Given the description of an element on the screen output the (x, y) to click on. 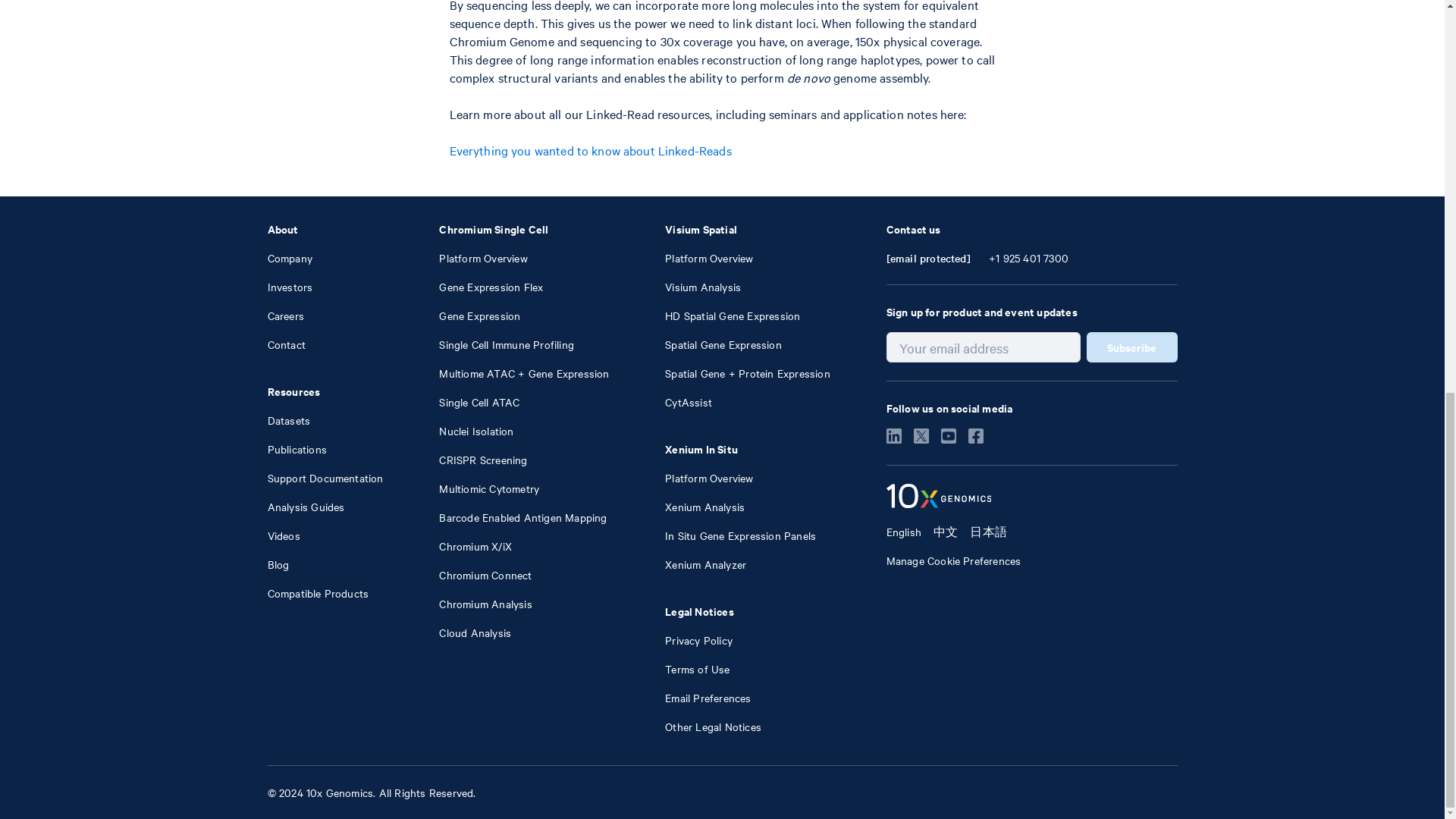
Twitter (926, 438)
Gene Expression Flex (491, 286)
Barcode Enabled Antigen Mapping (523, 516)
Blog (277, 563)
Multiomic Cytometry (488, 488)
Cloud Analysis (475, 631)
Chromium Analysis (485, 603)
Visium Analysis (703, 286)
Gene Expression (479, 314)
Contact (285, 344)
Everything you wanted to know about Linked-Reads (589, 149)
Single Cell Immune Profiling (506, 344)
Compatible Products (317, 592)
Datasets (288, 419)
Nuclei Isolation (476, 430)
